Given the description of an element on the screen output the (x, y) to click on. 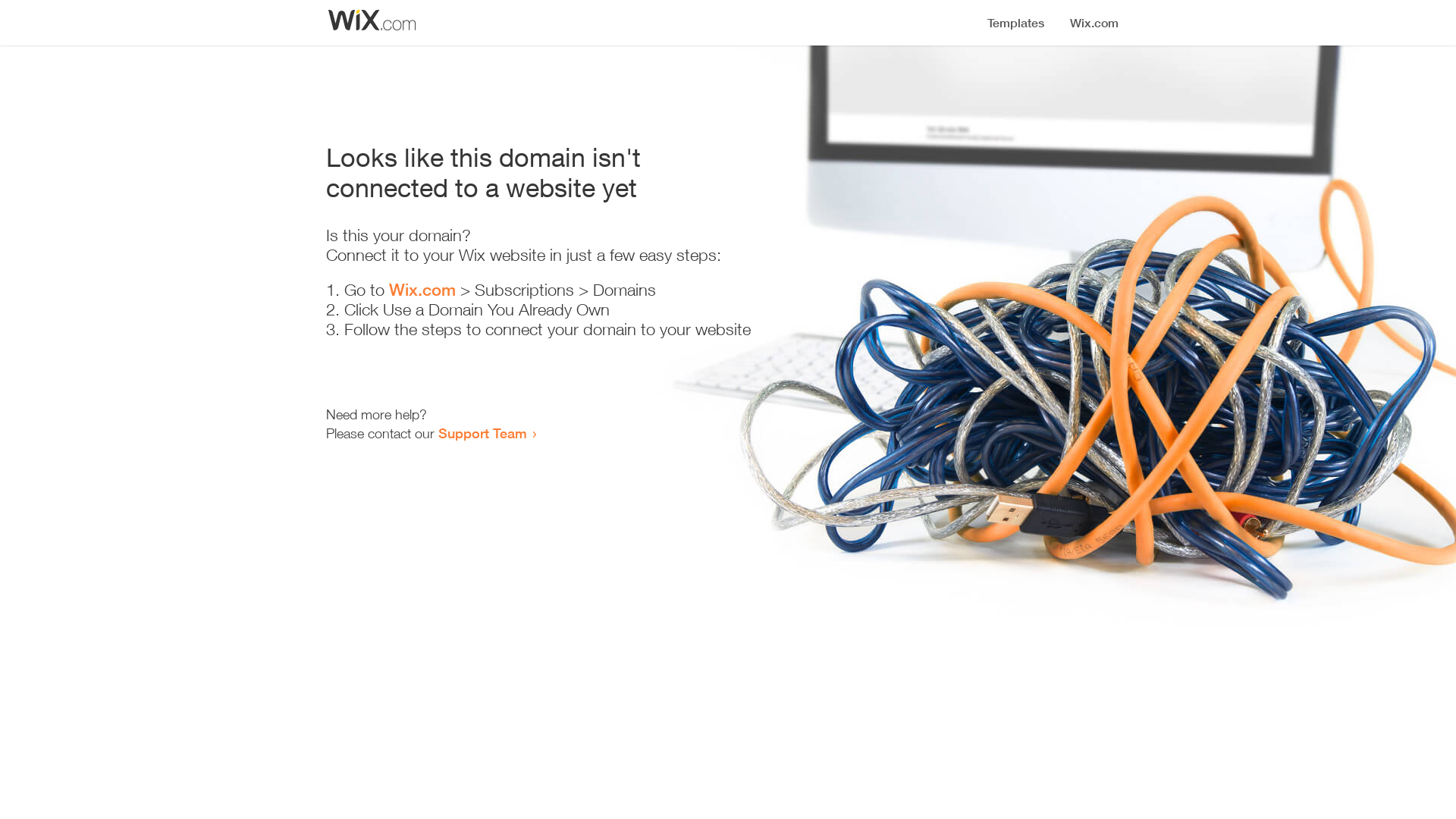
Support Team Element type: text (482, 432)
Wix.com Element type: text (422, 289)
